Given the description of an element on the screen output the (x, y) to click on. 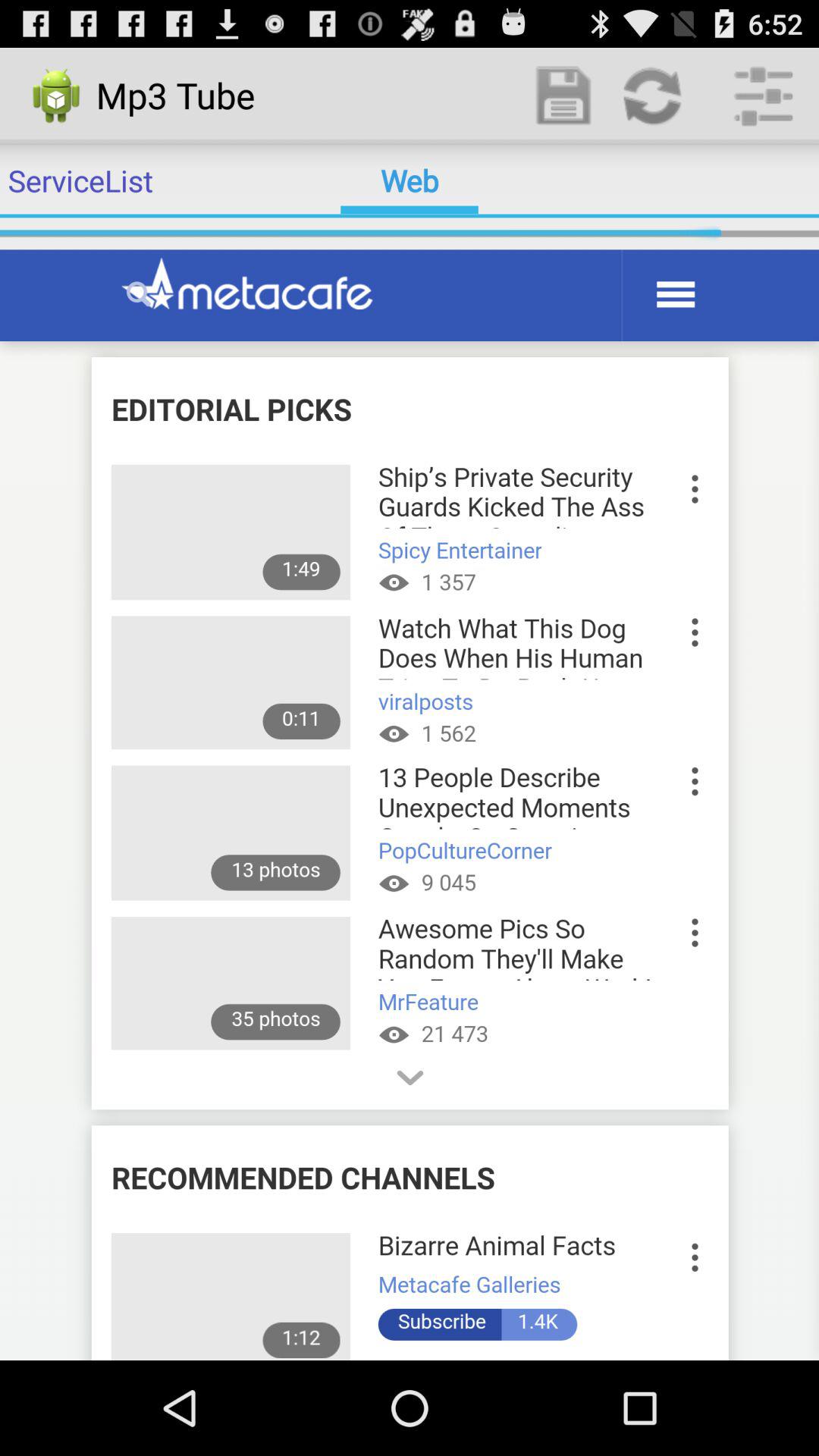
save (564, 95)
